Given the description of an element on the screen output the (x, y) to click on. 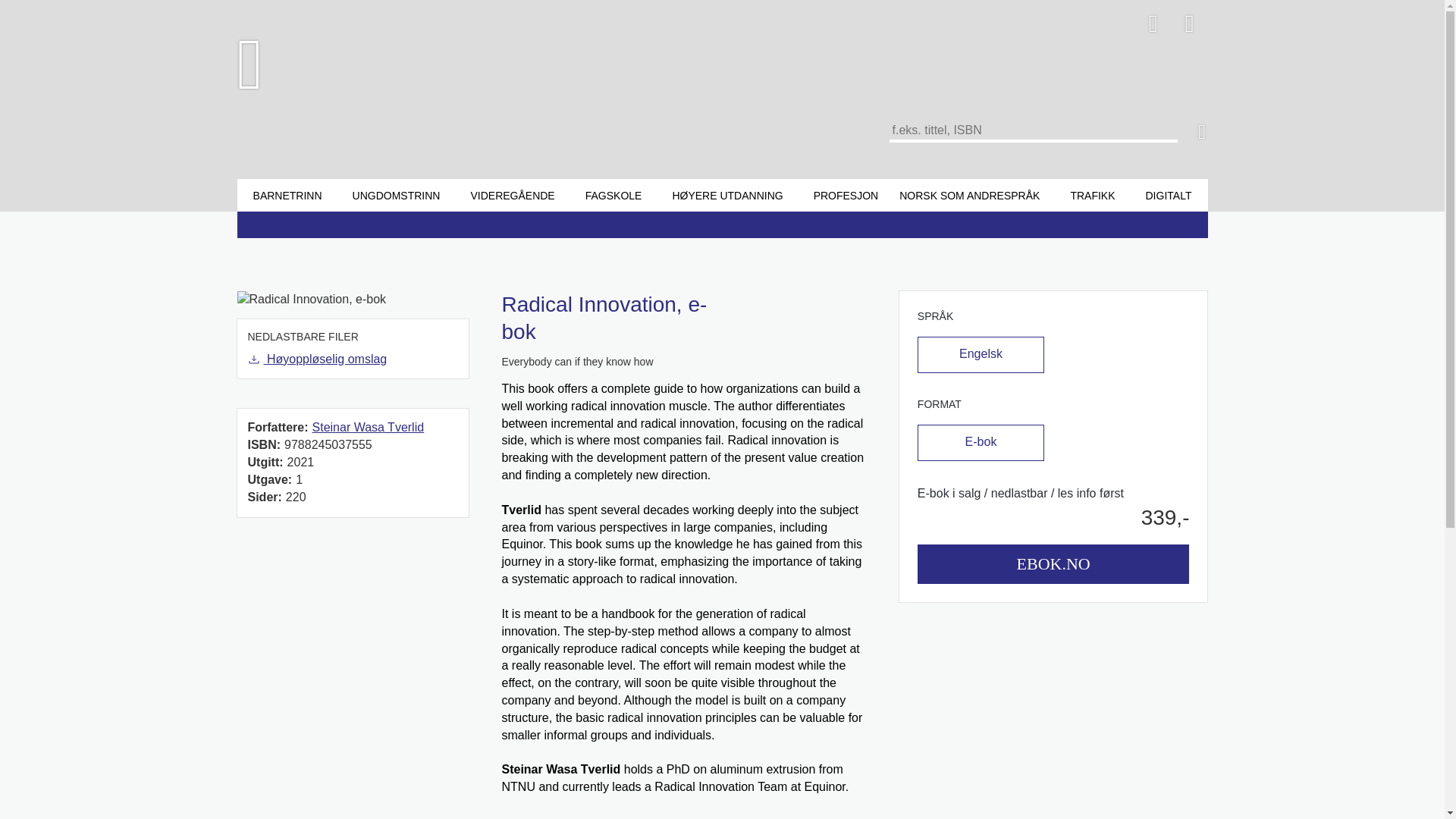
Barnetrinn (287, 195)
Trafikk (1092, 195)
Fagskole (613, 195)
Fagbokforlaget (349, 64)
Ungdomstrinn (396, 195)
Profesjon (846, 195)
Digitalt (1167, 195)
